Given the description of an element on the screen output the (x, y) to click on. 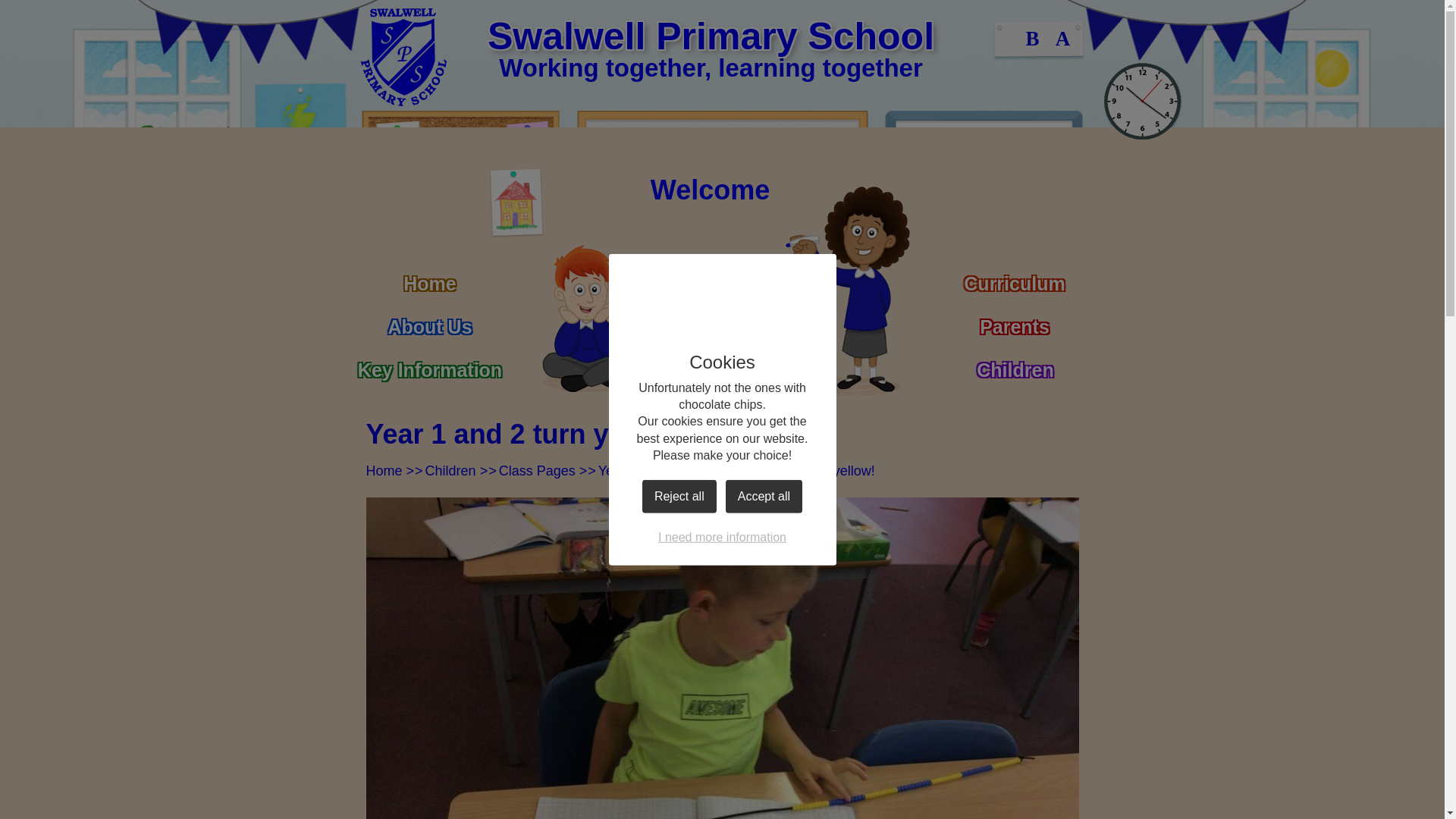
Home (429, 276)
Class Pages (537, 470)
Children (450, 470)
Key Information (429, 363)
Home (383, 470)
About Us (429, 320)
Year 1 and 2 turn yellow! (800, 470)
